Given the description of an element on the screen output the (x, y) to click on. 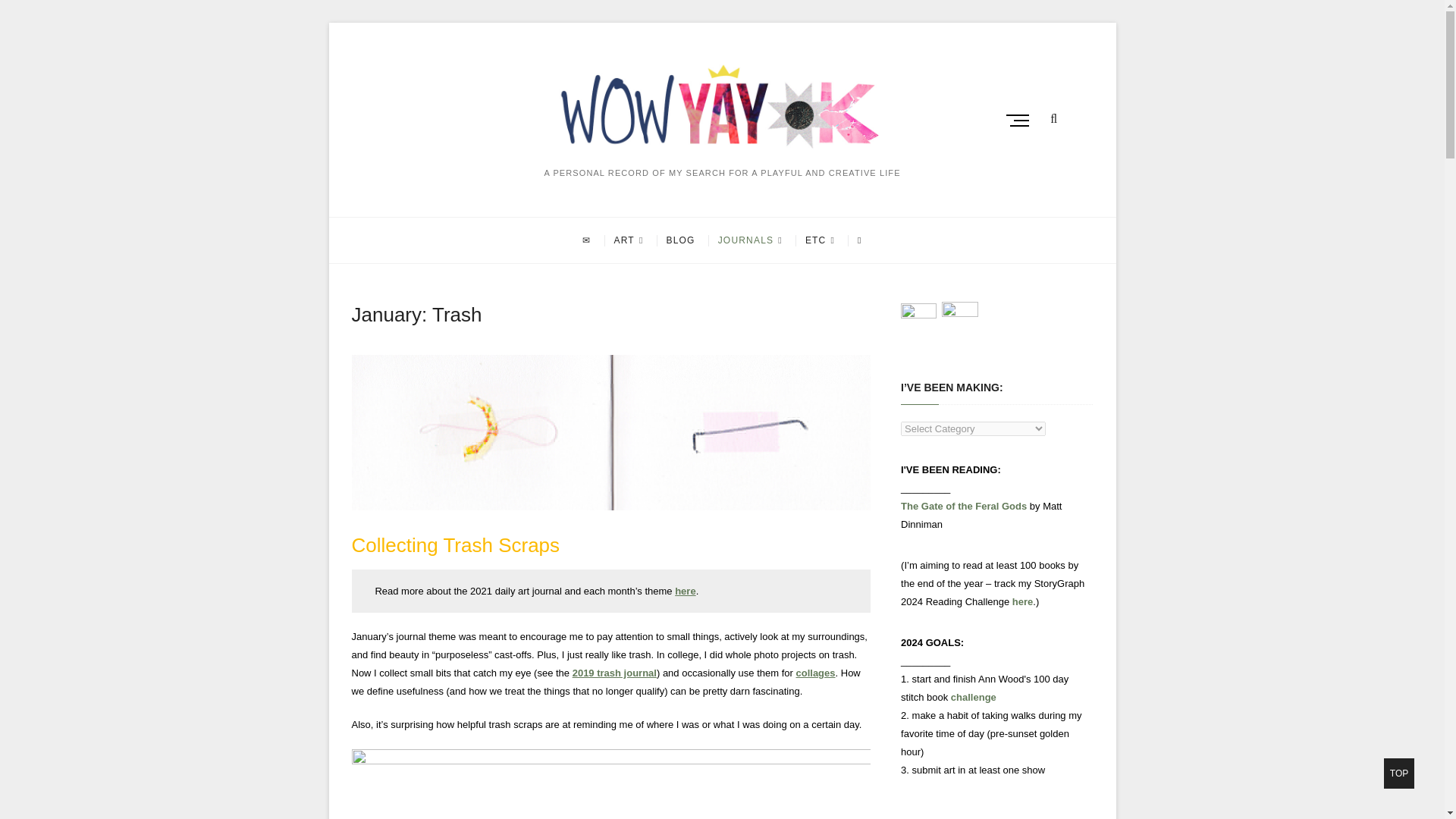
JOURNALS (749, 239)
BLOG (680, 239)
ART (628, 239)
Menu Button (1021, 119)
